Given the description of an element on the screen output the (x, y) to click on. 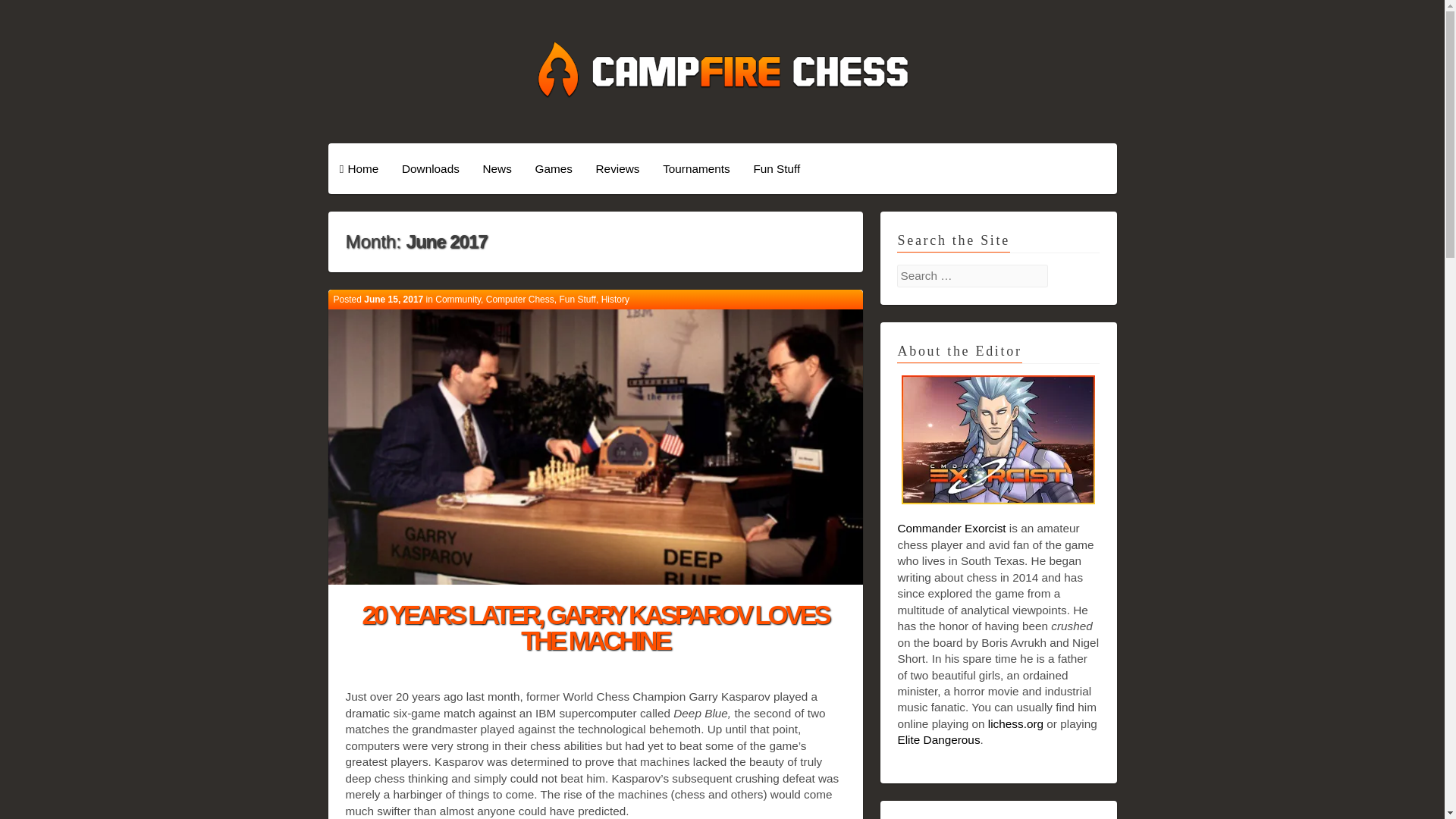
Home (358, 168)
Community (457, 299)
Computer Chess (520, 299)
History (614, 299)
Search (28, 12)
20 YEARS LATER, GARRY KASPAROV LOVES THE MACHINE (595, 627)
Reviews (616, 168)
lichess.org (1015, 723)
Elite Dangerous (937, 739)
Fun Stuff (776, 168)
